Given the description of an element on the screen output the (x, y) to click on. 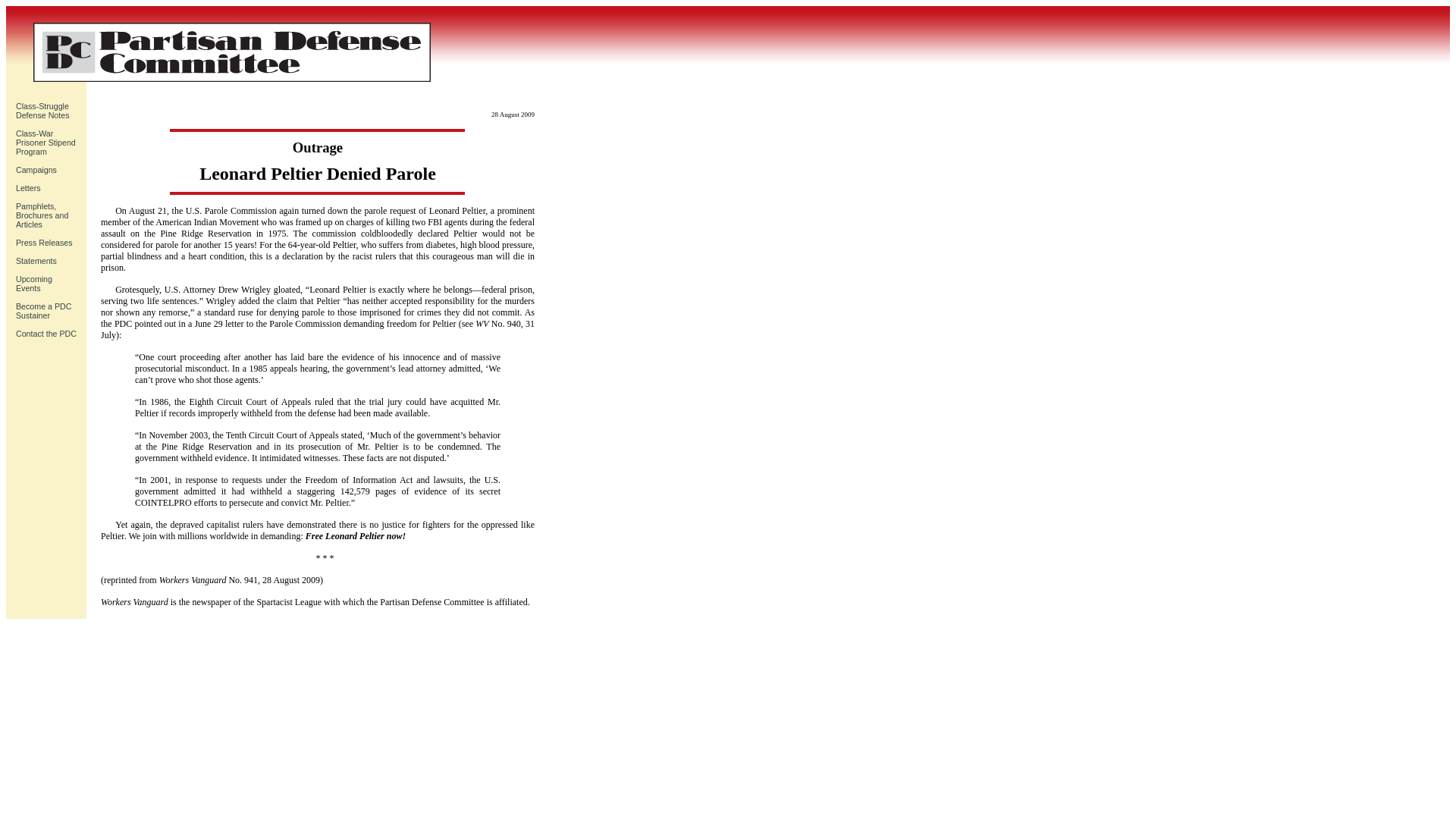
Contact the PDC (46, 333)
Press Releases (44, 242)
Become a PDC Sustainer (43, 311)
Campaigns (36, 169)
Class-Struggle Defense Notes (42, 110)
Pamphlets, Brochures and Articles (42, 215)
Statements (36, 260)
Letters (28, 187)
Class-War Prisoner Stipend Program (34, 283)
